Given the description of an element on the screen output the (x, y) to click on. 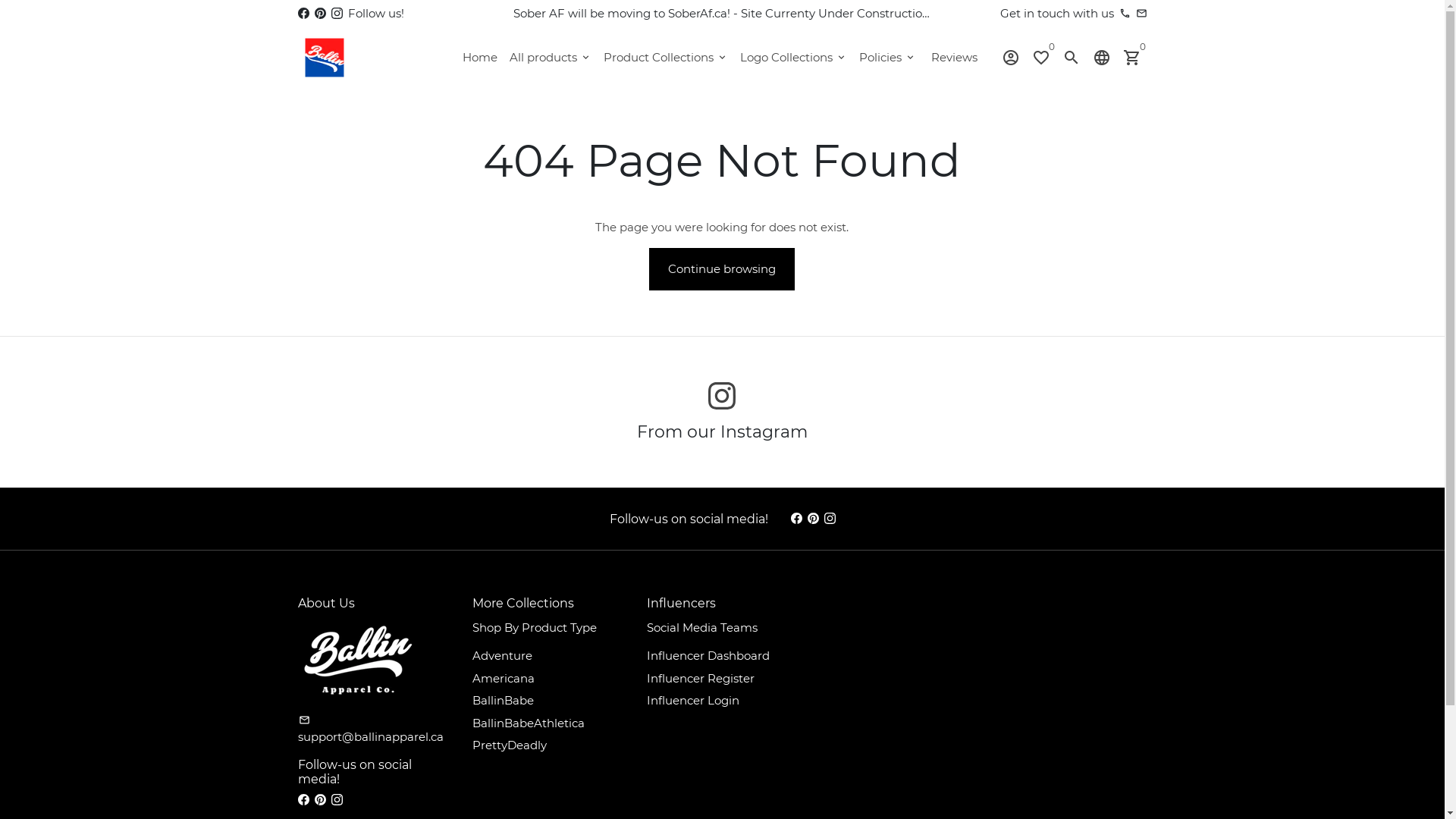
email support@ballinapparel.ca Element type: text (372, 729)
Ballin Apparel on Pinterest Element type: hover (812, 518)
BallinBabeAthletica Element type: text (527, 723)
All products keyboard_arrow_down Element type: text (550, 57)
Policies keyboard_arrow_down Element type: text (886, 57)
Adventure Element type: text (501, 656)
Home Element type: text (479, 57)
email Element type: text (1141, 13)
shopping_cart
0 Element type: text (1131, 57)
Ballin Apparel on Facebook Element type: hover (302, 799)
Ballin Apparel on Instagram Element type: hover (721, 395)
Americana Element type: text (502, 678)
account_circle Element type: text (1009, 57)
Influencer Register Element type: text (699, 678)
PrettyDeadly Element type: text (508, 745)
Influencer Login Element type: text (692, 700)
Logo Collections keyboard_arrow_down Element type: text (793, 57)
Ballin Apparel on Pinterest Element type: hover (319, 799)
Influencer Dashboard Element type: text (707, 656)
Ballin Apparel on Instagram Element type: hover (336, 799)
language Element type: text (1100, 57)
Reviews Element type: text (954, 57)
search Element type: text (1070, 57)
Ballin Apparel on Pinterest Element type: hover (319, 13)
BallinBabe Element type: text (502, 700)
Product Collections keyboard_arrow_down Element type: text (665, 57)
Ballin Apparel on Facebook Element type: hover (302, 13)
phone Element type: text (1124, 13)
Skip to content Element type: text (0, 0)
favorite_border
0 Element type: text (1040, 57)
Ballin Apparel on Instagram Element type: hover (828, 518)
Continue browsing Element type: text (721, 268)
Ballin Apparel on Facebook Element type: hover (795, 518)
Ballin Apparel on Instagram Element type: hover (336, 13)
